Given the description of an element on the screen output the (x, y) to click on. 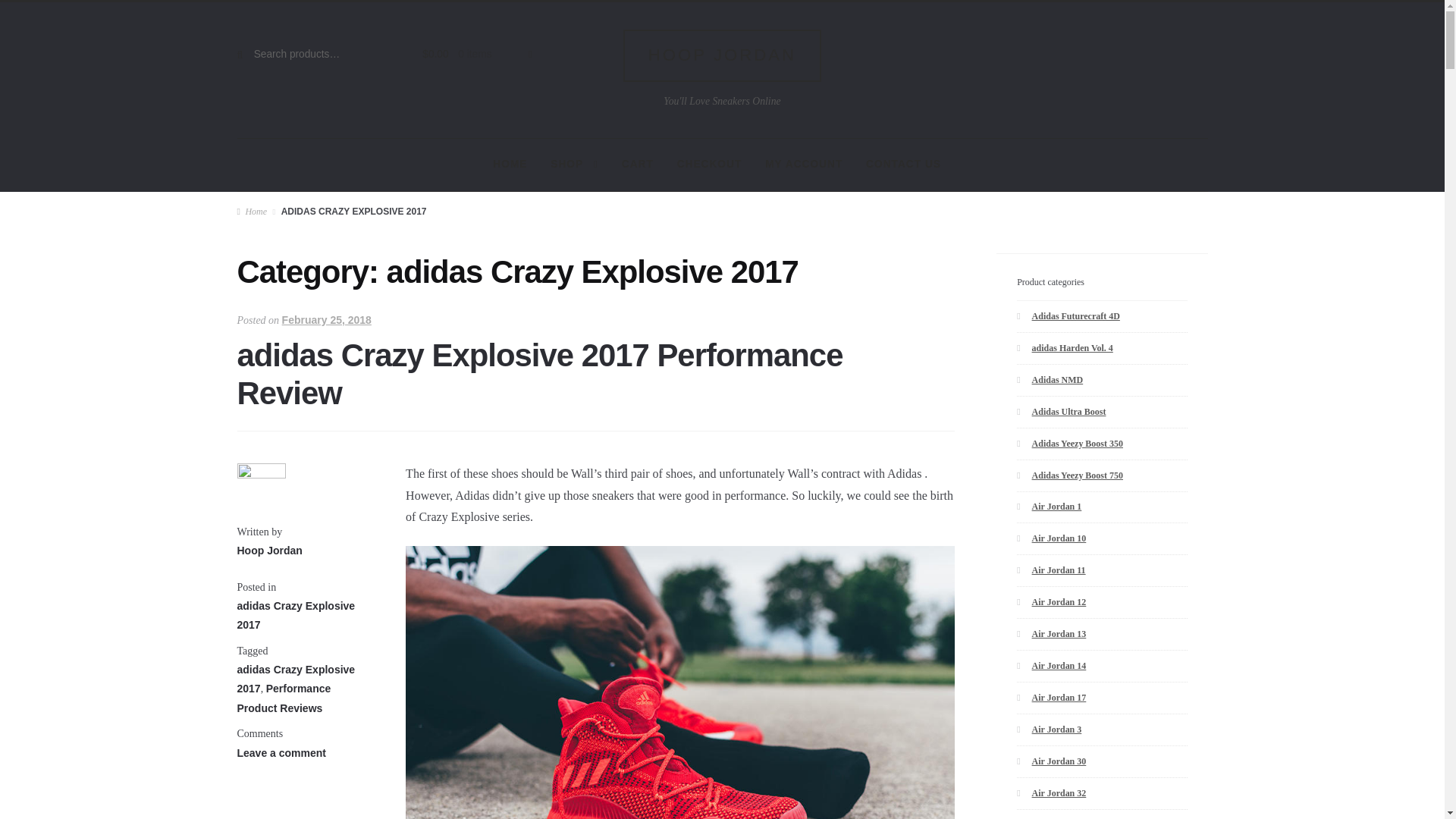
Hoop Jordan (268, 550)
CONTACT US (903, 164)
February 25, 2018 (326, 319)
adidas Crazy Explosive 2017 Performance Review (539, 374)
MY ACCOUNT (803, 164)
Search (266, 60)
Performance Product Reviews (282, 697)
View your shopping cart (469, 54)
adidas Crazy Explosive 2017 (295, 678)
adidas Crazy Explosive 2017 (295, 614)
Leave a comment (280, 752)
CART (637, 164)
CHECKOUT (709, 164)
SHOP (574, 164)
Home (250, 211)
